Given the description of an element on the screen output the (x, y) to click on. 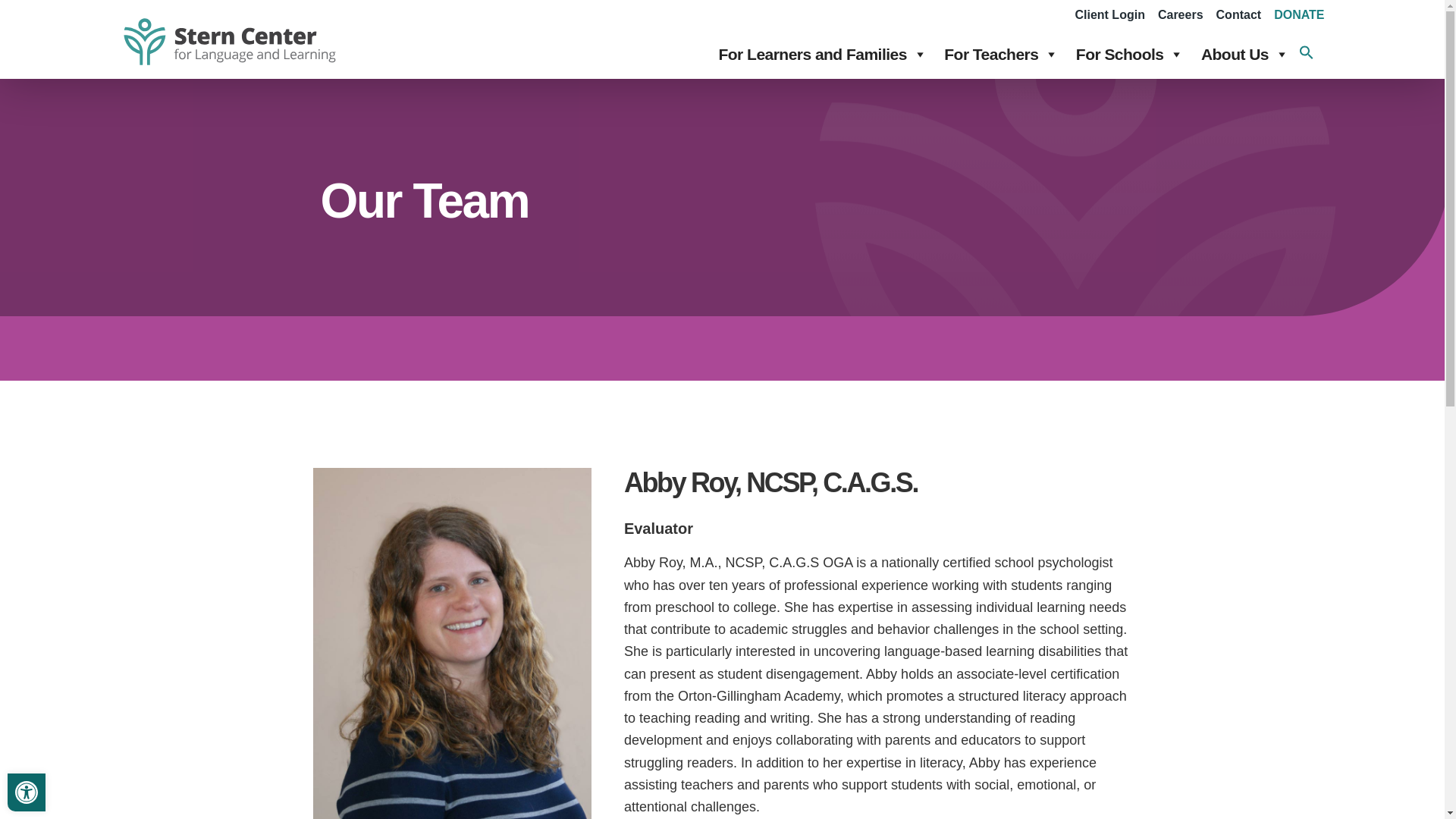
Careers (1180, 14)
For Teachers (1000, 53)
DONATE (1298, 14)
Contact (1238, 14)
